Given the description of an element on the screen output the (x, y) to click on. 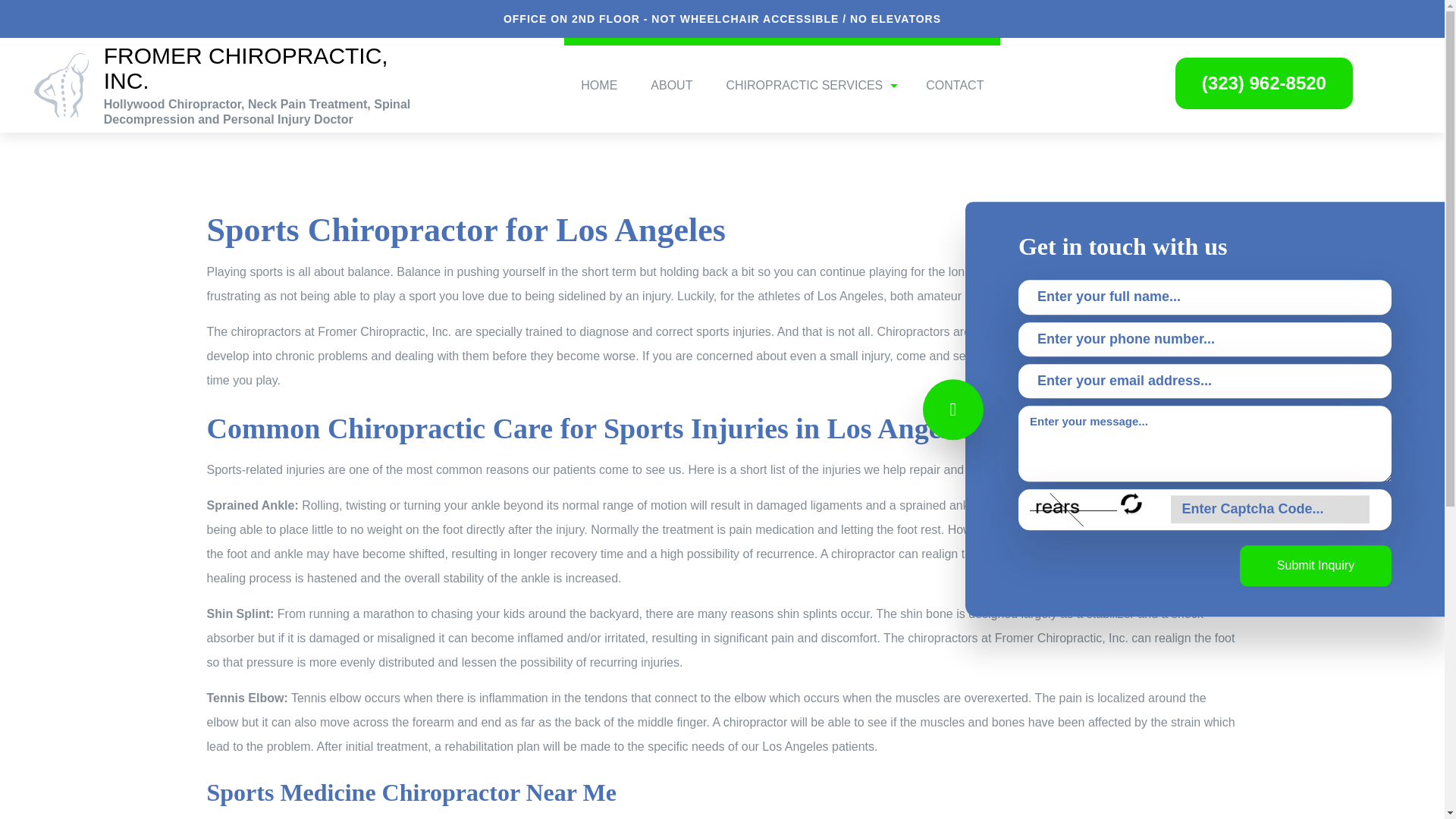
FROMER CHIROPRACTIC, INC. (264, 68)
Refresh Captcha (1131, 504)
Auto Accident Injuries (808, 115)
Back Pain (808, 141)
CHIROPRACTIC SERVICES (808, 69)
HOME (598, 69)
Massage Therapy (808, 274)
Carpal Tunnel (808, 168)
Myofascial Release (808, 301)
Cervical Disc Herniation (808, 194)
Neck Pain (808, 327)
ABOUT (671, 69)
Knee Pain (808, 248)
Hip Pain (808, 221)
